Given the description of an element on the screen output the (x, y) to click on. 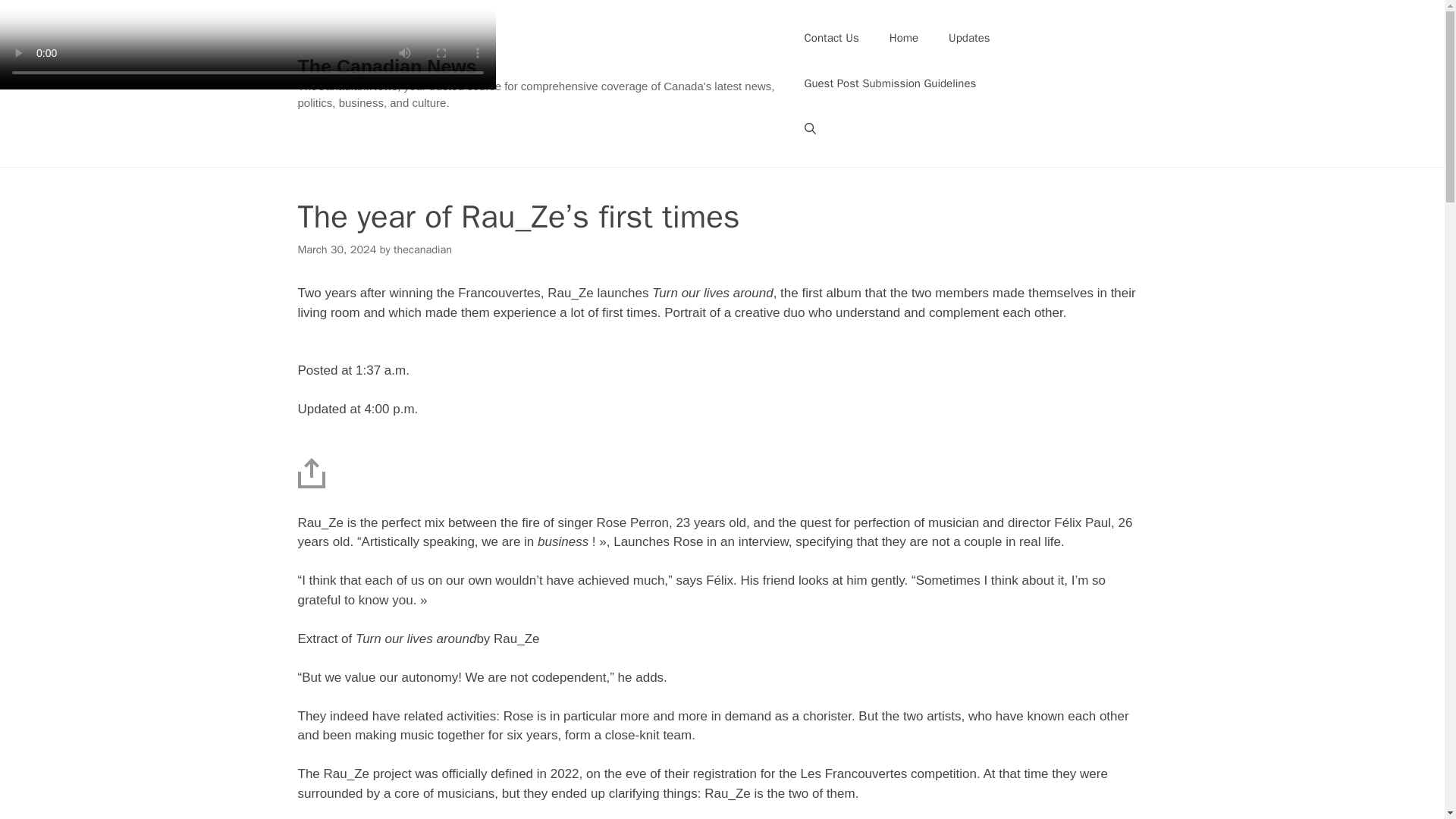
Guest Post Submission Guidelines (890, 83)
The Canadian News (386, 66)
View all posts by thecanadian (422, 249)
Updates (969, 37)
Home (904, 37)
thecanadian (422, 249)
Contact Us (832, 37)
